Given the description of an element on the screen output the (x, y) to click on. 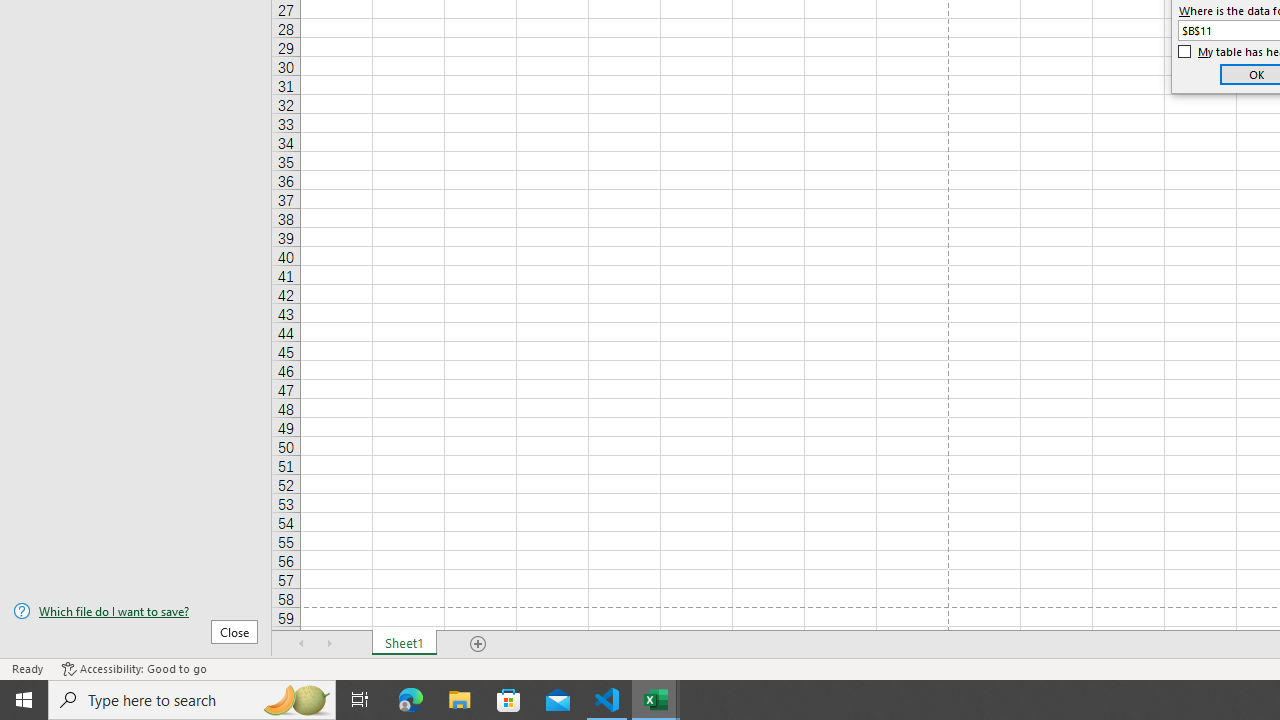
Which file do I want to save? (136, 611)
Scroll Left (302, 644)
Scroll Right (330, 644)
Close (234, 631)
Accessibility Checker Accessibility: Good to go (134, 668)
Add Sheet (478, 644)
Sheet1 (404, 644)
